Given the description of an element on the screen output the (x, y) to click on. 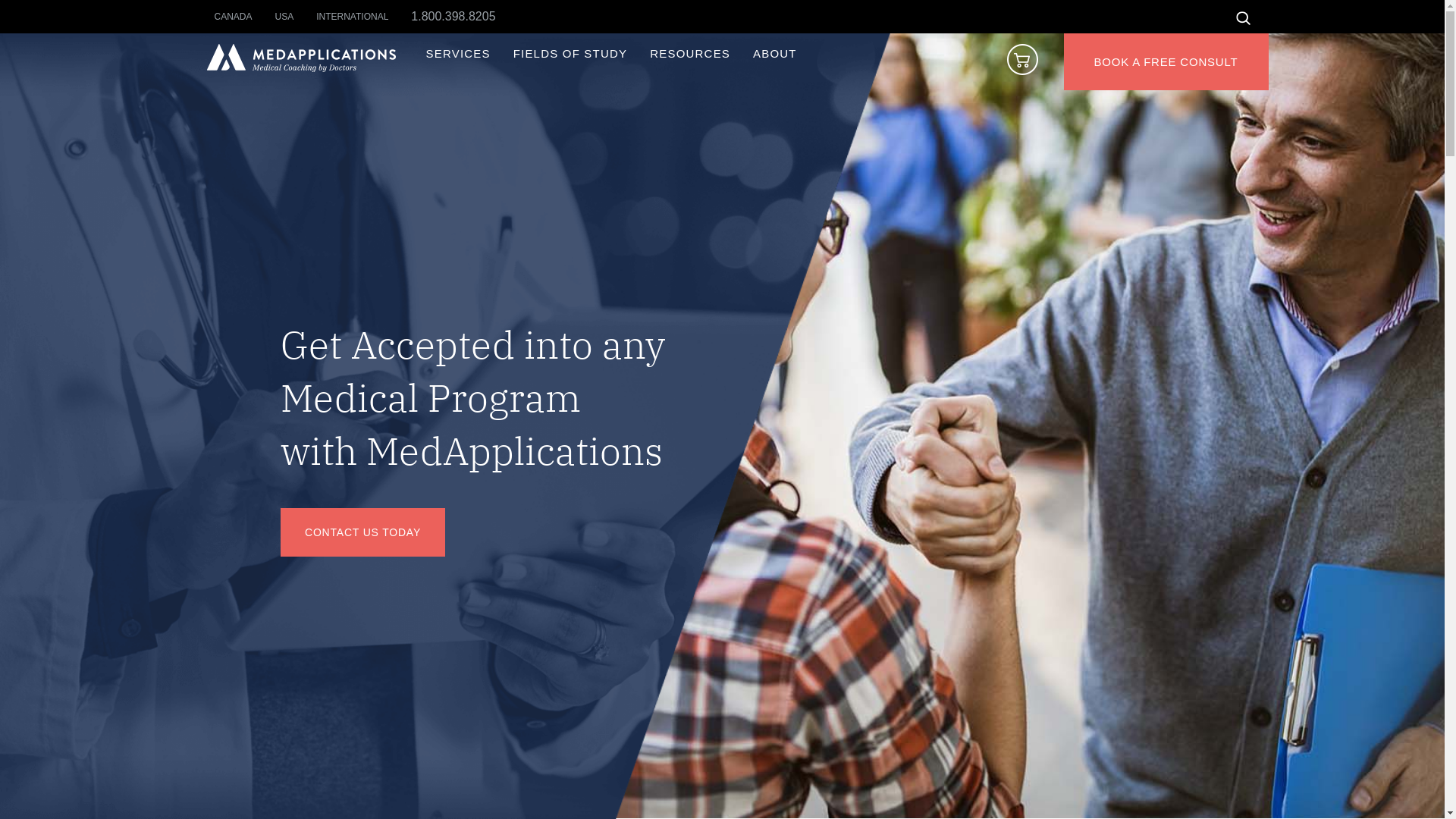
Checkout Now Element type: hover (1027, 70)
INTERNATIONAL Element type: text (363, 16)
USA Element type: text (295, 16)
1.800.398.8205 Element type: text (453, 16)
RESOURCES Element type: text (689, 53)
click to search Element type: hover (1242, 17)
BOOK A FREE CONSULT Element type: text (1165, 61)
Back to MedApplications Home Element type: hover (300, 67)
CANADA Element type: text (243, 16)
CONTACT US TODAY Element type: text (362, 532)
FIELDS OF STUDY Element type: text (570, 53)
SERVICES Element type: text (458, 53)
ABOUT Element type: text (775, 53)
